Given the description of an element on the screen output the (x, y) to click on. 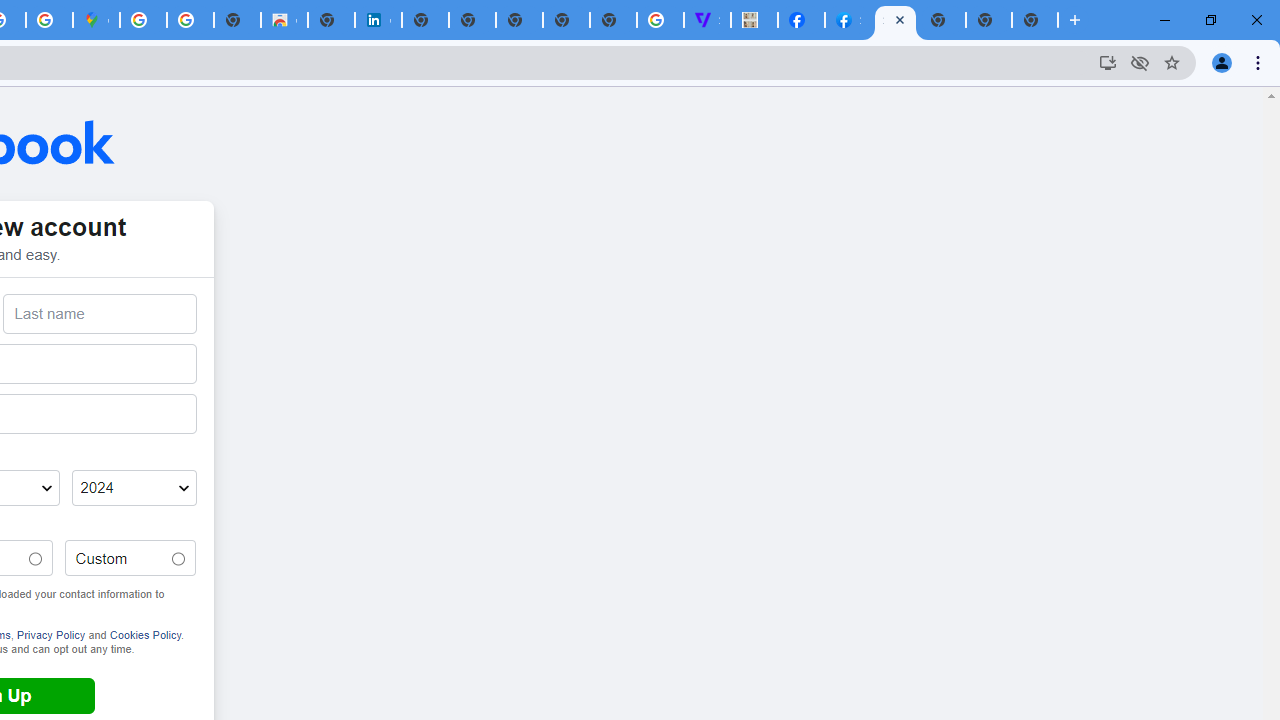
Male (35, 559)
New Tab (1075, 20)
Sign Up for Facebook (895, 20)
Cookie Policy | LinkedIn (377, 20)
Minimize (1165, 20)
Chrome (1260, 62)
Privacy Policy (50, 633)
Restore (1210, 20)
Chrome Web Store (284, 20)
Bookmark this tab (1171, 62)
